Given the description of an element on the screen output the (x, y) to click on. 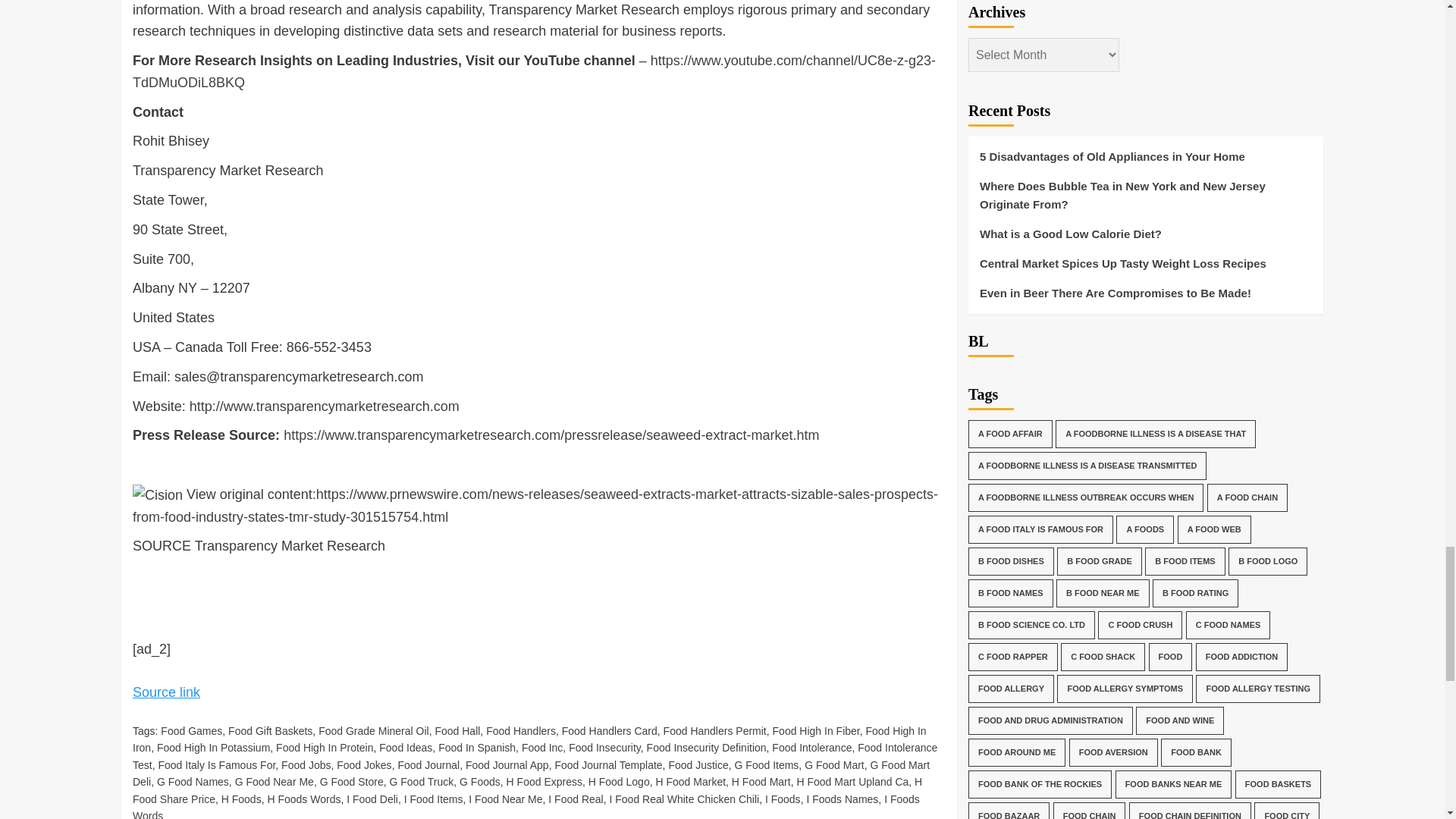
Food Handlers (521, 730)
Food Games (191, 730)
Food Gift Baskets (270, 730)
Food Grade Mineral Oil (373, 730)
Food Hall (456, 730)
Source link (166, 692)
Food Handlers Card (610, 730)
Cision (157, 495)
